Given the description of an element on the screen output the (x, y) to click on. 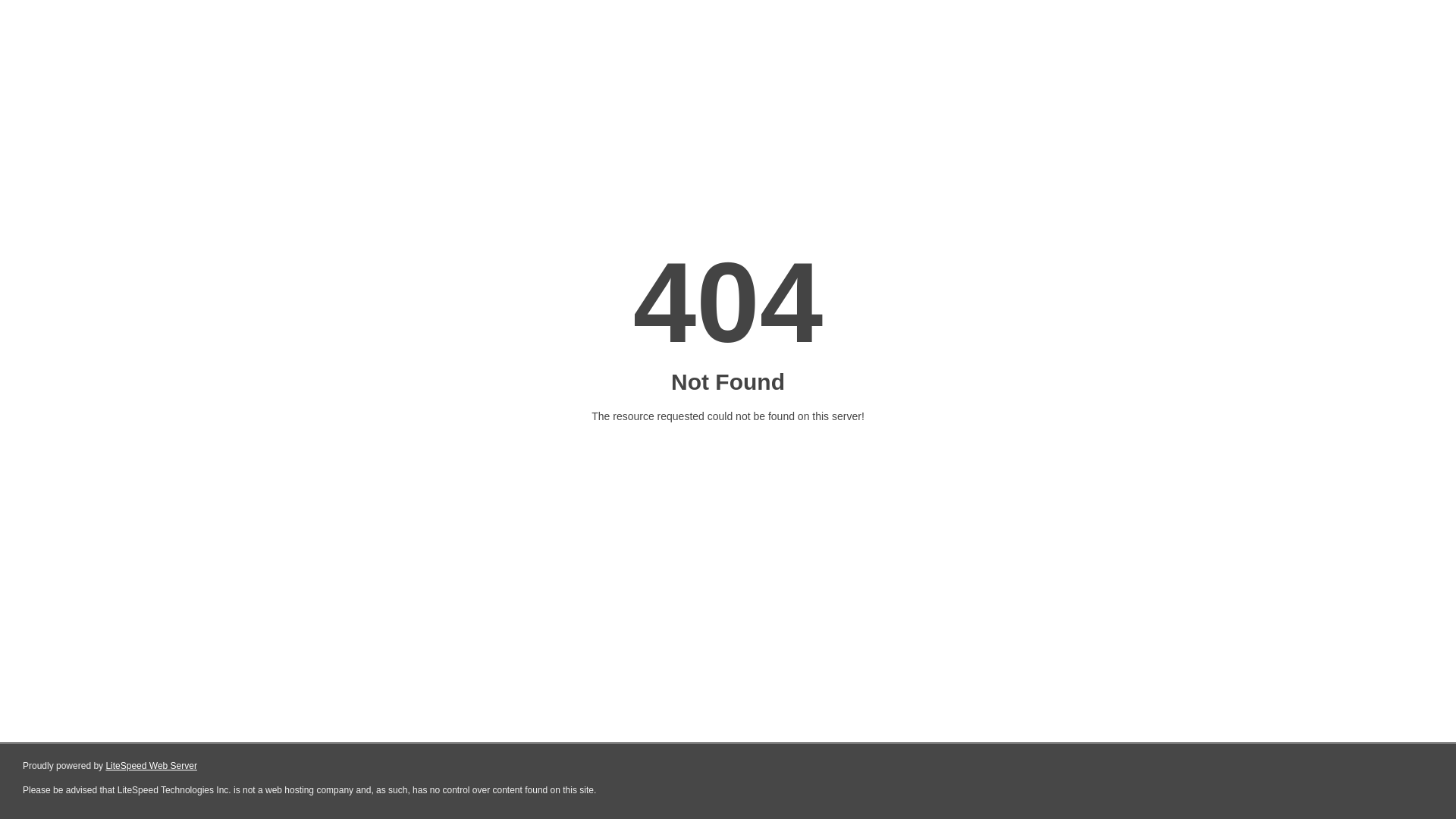
LiteSpeed Web Server Element type: text (151, 765)
